Given the description of an element on the screen output the (x, y) to click on. 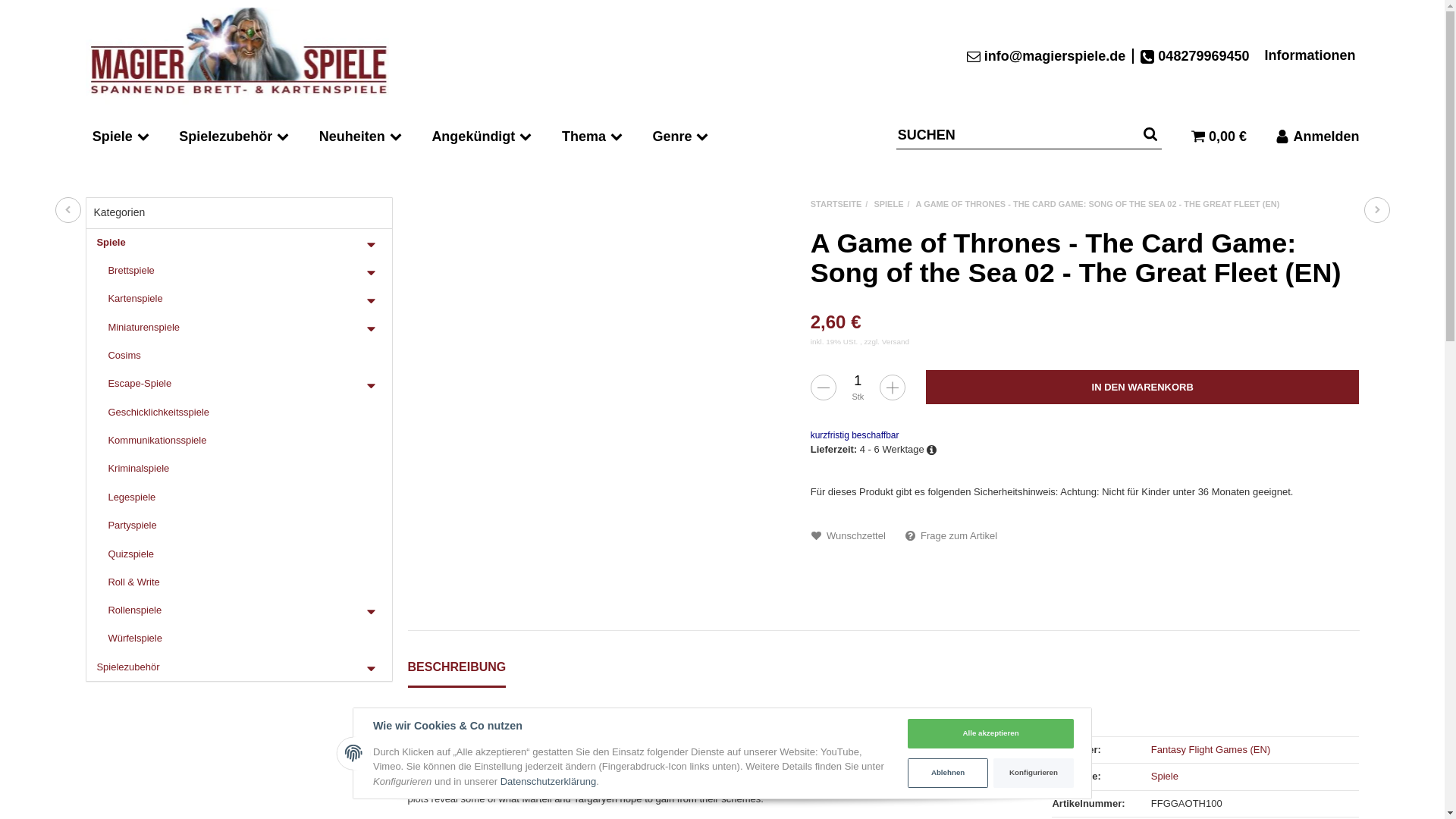
Thema (593, 135)
048279969450 (1194, 55)
Neuheiten (360, 135)
Spiele (120, 135)
1 (857, 381)
Magierspiele - Spannende Brett-, Karten- und Rollenspiele (236, 56)
Informationen (1310, 55)
Neuheiten (360, 135)
